Given the description of an element on the screen output the (x, y) to click on. 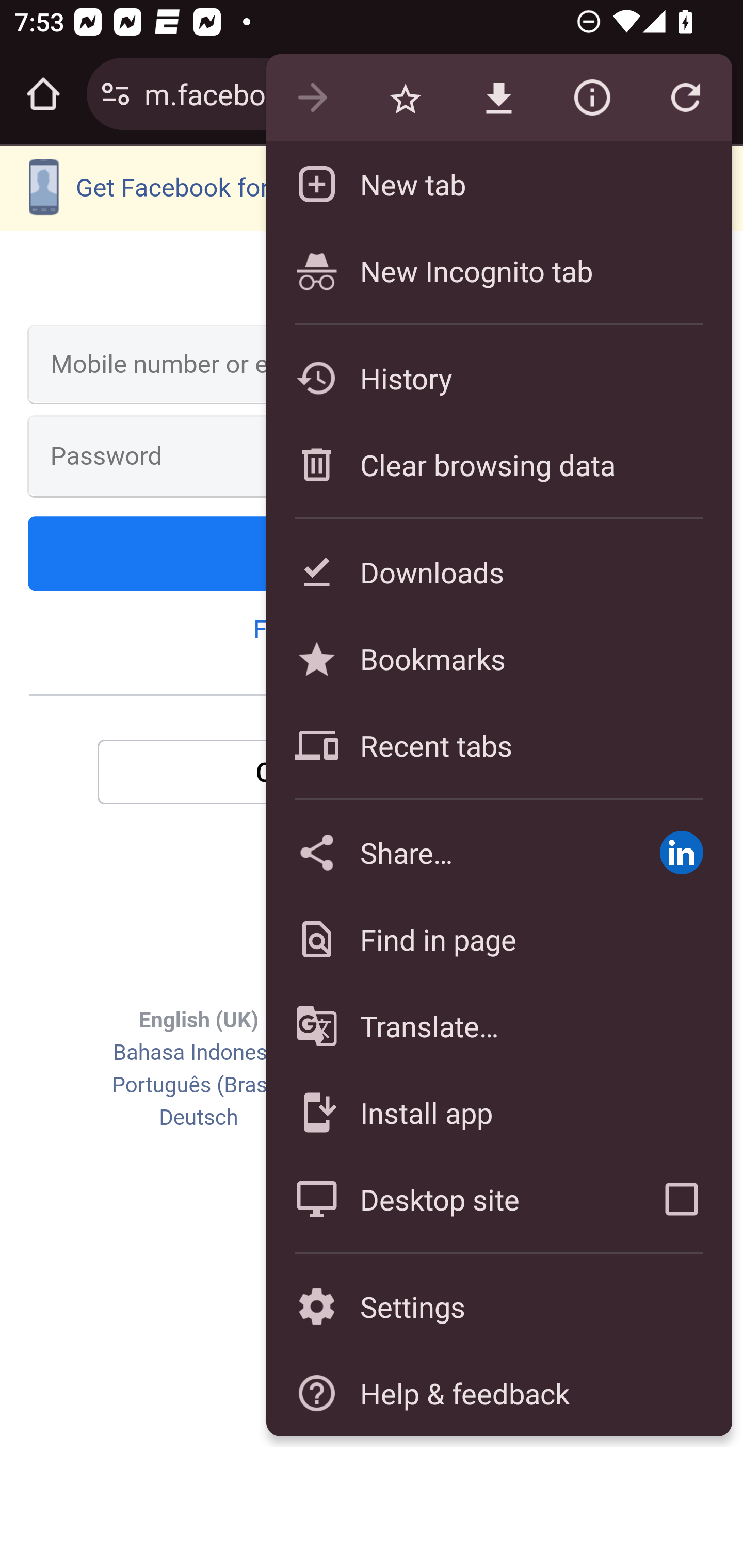
Forward (311, 97)
Bookmark (404, 97)
Download (498, 97)
Page info (591, 97)
Refresh (684, 97)
New tab (498, 184)
New Incognito tab (498, 270)
History (498, 377)
Clear browsing data (498, 464)
Downloads (498, 571)
Bookmarks (498, 658)
Recent tabs (498, 745)
Share… (447, 852)
Share via Share in a post (680, 852)
Find in page (498, 939)
Translate… (498, 1026)
Install app (498, 1112)
Desktop site Turn on Request desktop site (447, 1198)
Settings (498, 1306)
Help & feedback (498, 1393)
